Given the description of an element on the screen output the (x, y) to click on. 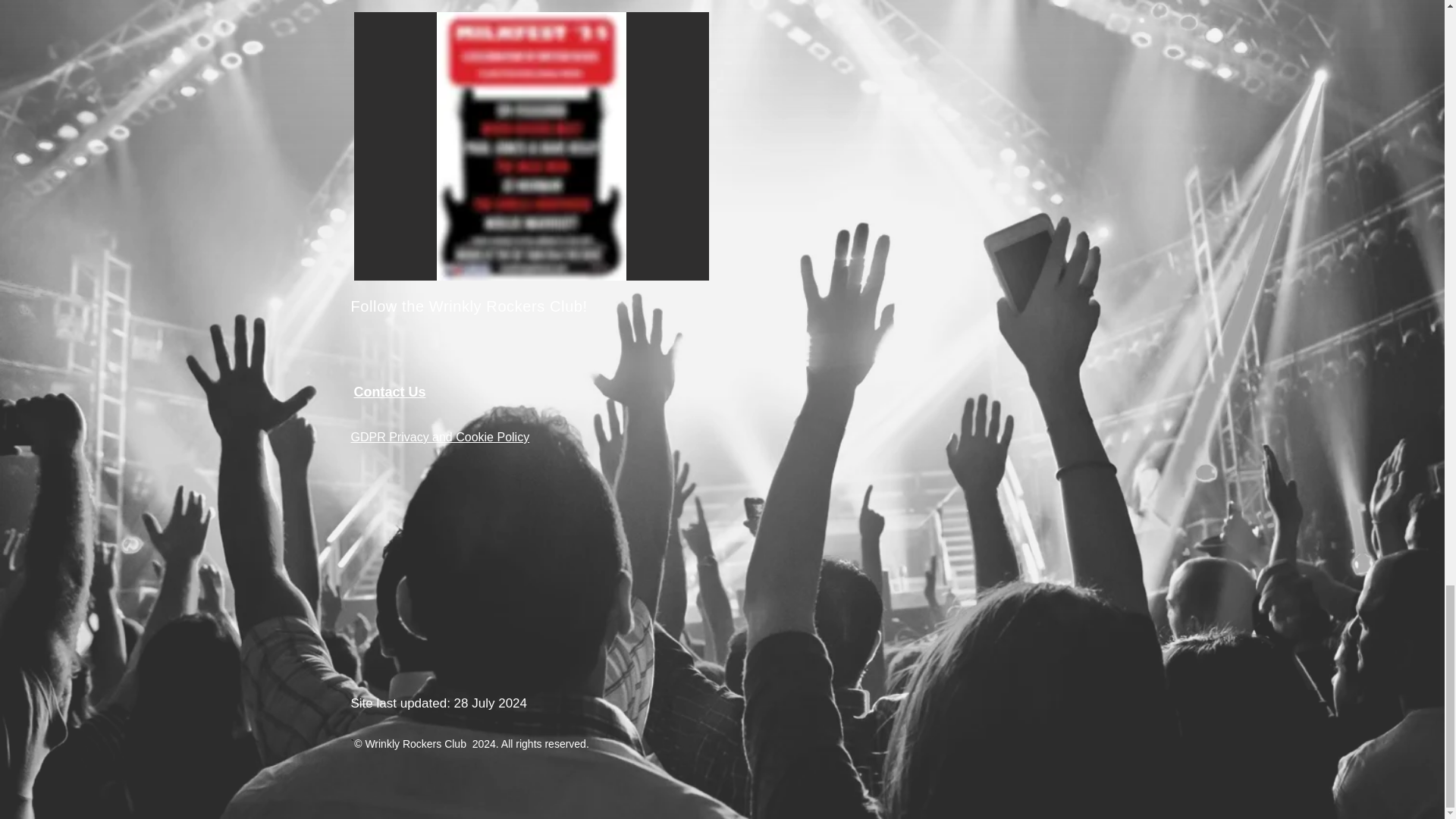
GDPR Privacy and Cookie Policy (439, 436)
Contact Us (389, 391)
